Given the description of an element on the screen output the (x, y) to click on. 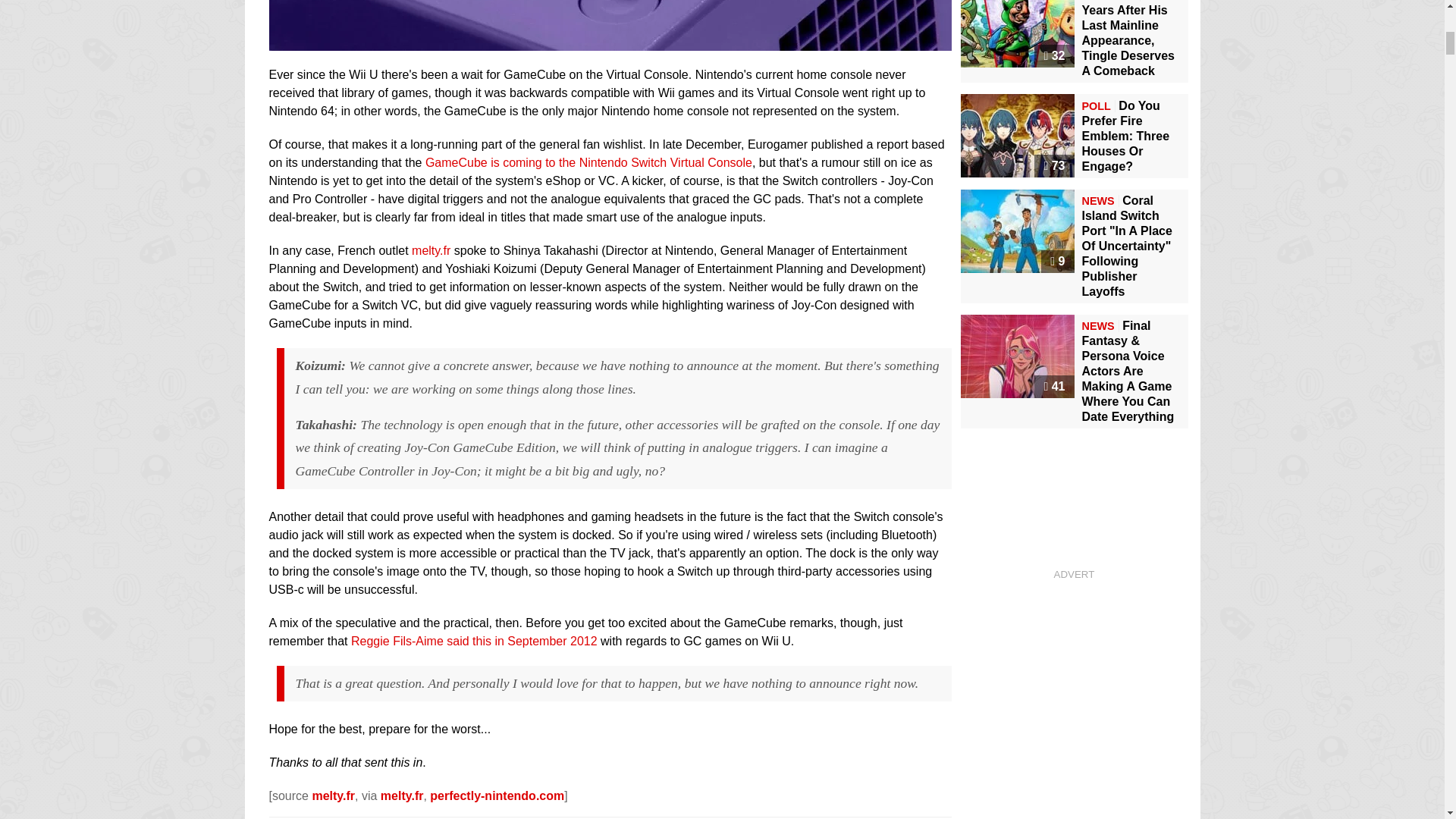
GameCube.jpg (608, 41)
